Given the description of an element on the screen output the (x, y) to click on. 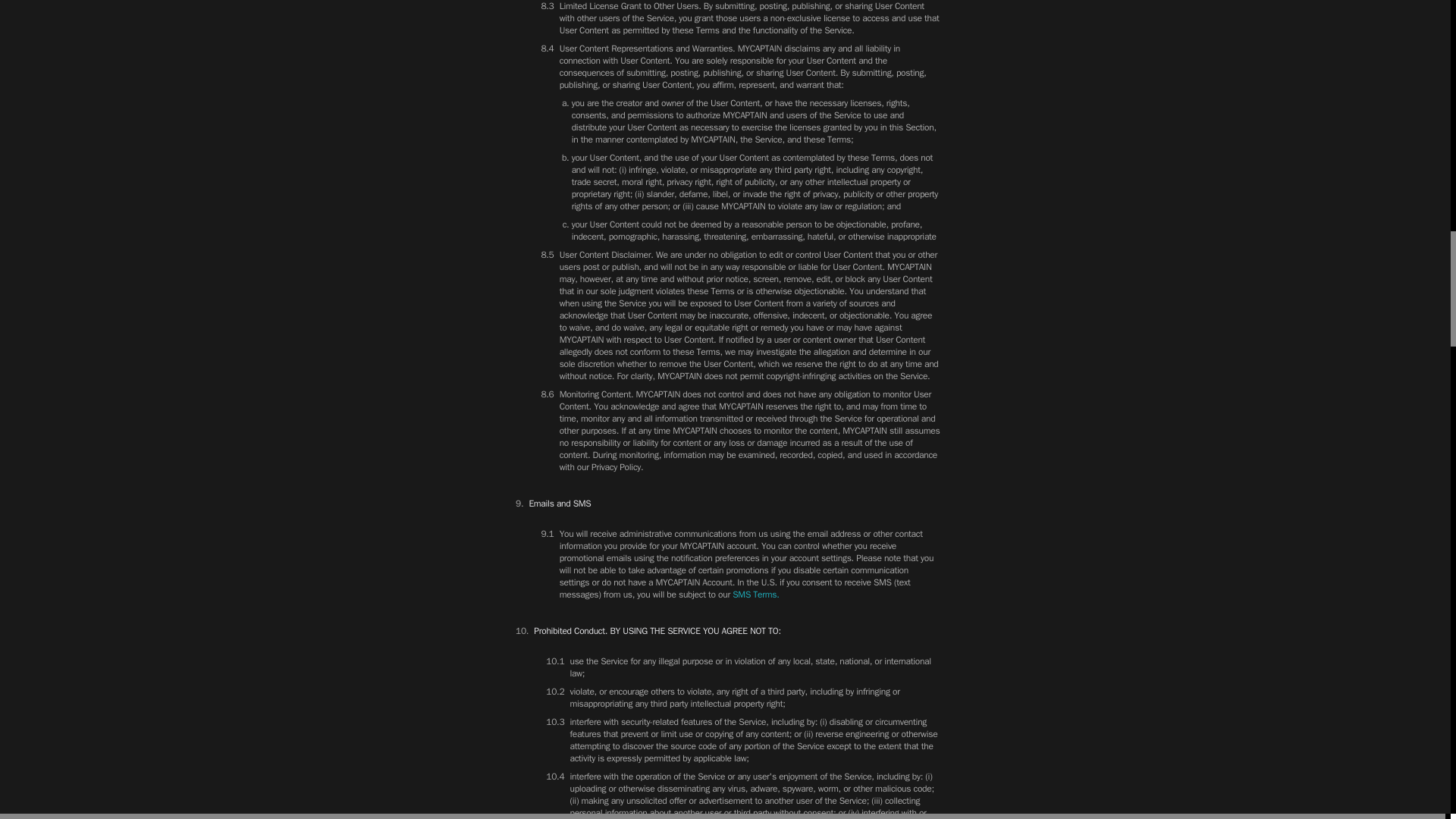
SMS Terms. (755, 594)
